Given the description of an element on the screen output the (x, y) to click on. 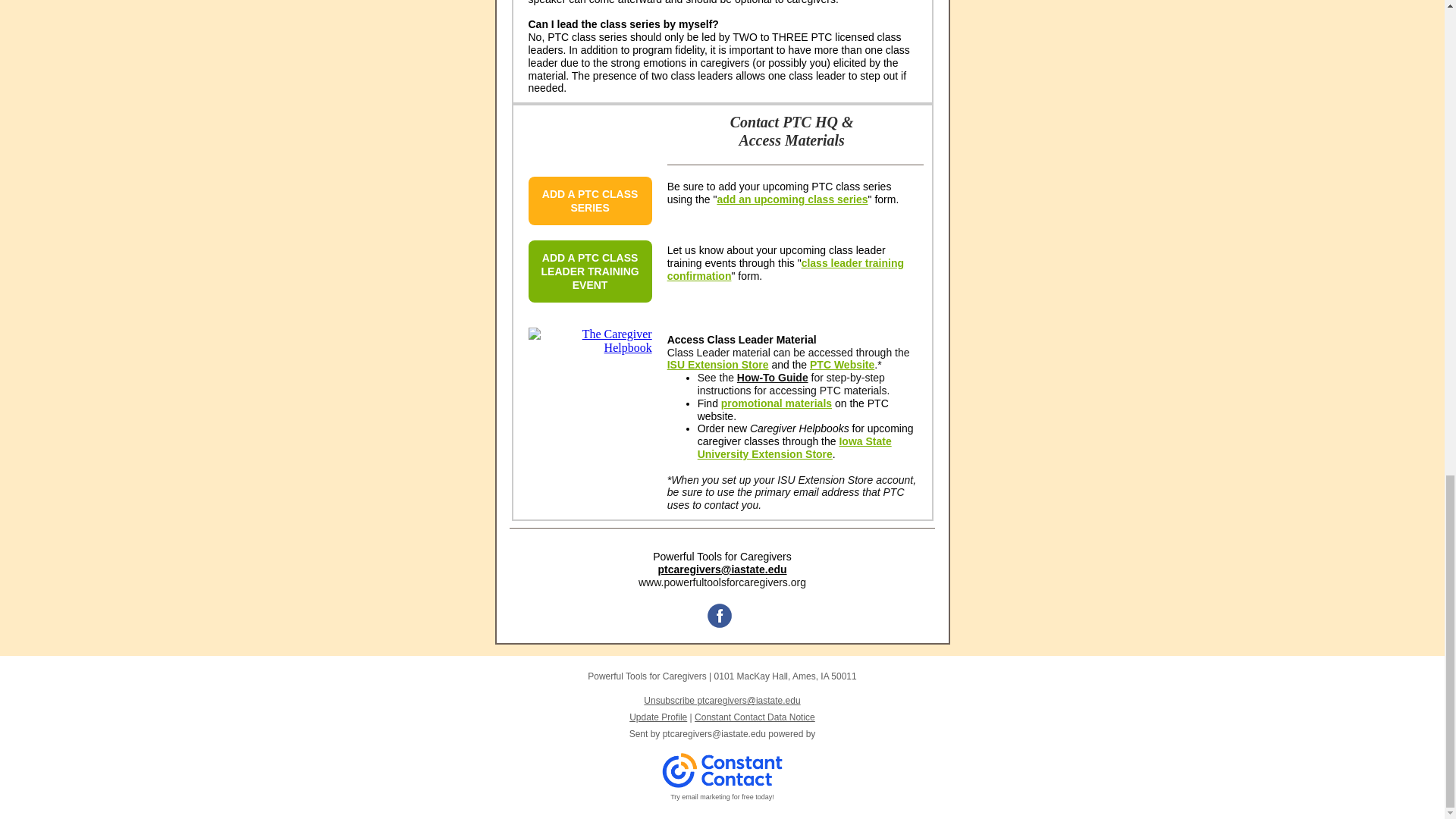
Update Profile (657, 716)
Iowa State University Extension Store (794, 447)
class leader training confirmation (785, 269)
How-To Guide (772, 377)
ADD A PTC CLASS LEADER TRAINING EVENT (590, 271)
ISU Extension Store (717, 364)
Constant Contact Data Notice (754, 716)
Try email marketing for free today! (721, 796)
promotional materials (775, 403)
add an upcoming class series (791, 199)
